Given the description of an element on the screen output the (x, y) to click on. 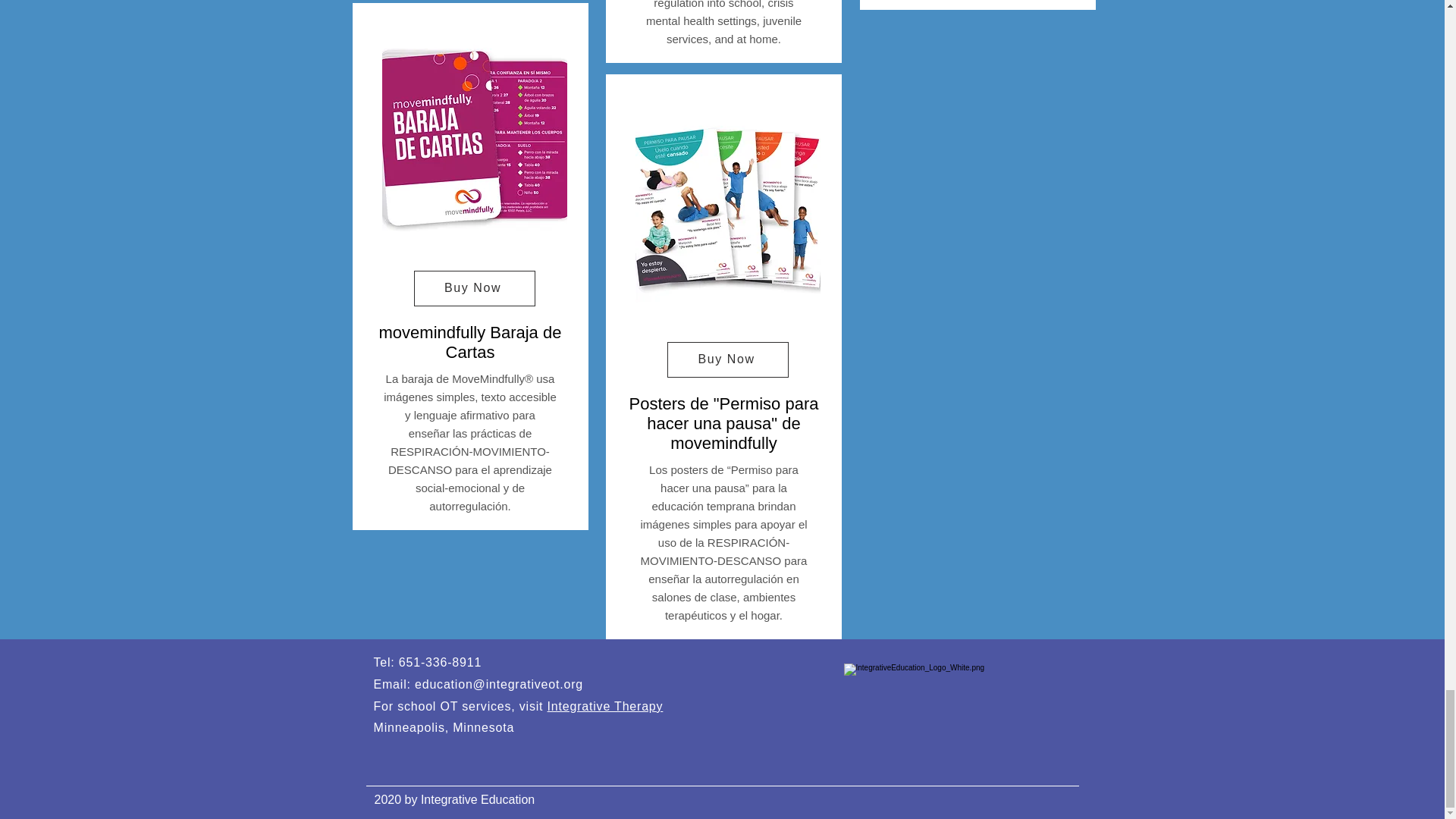
Buy Now (474, 288)
